Given the description of an element on the screen output the (x, y) to click on. 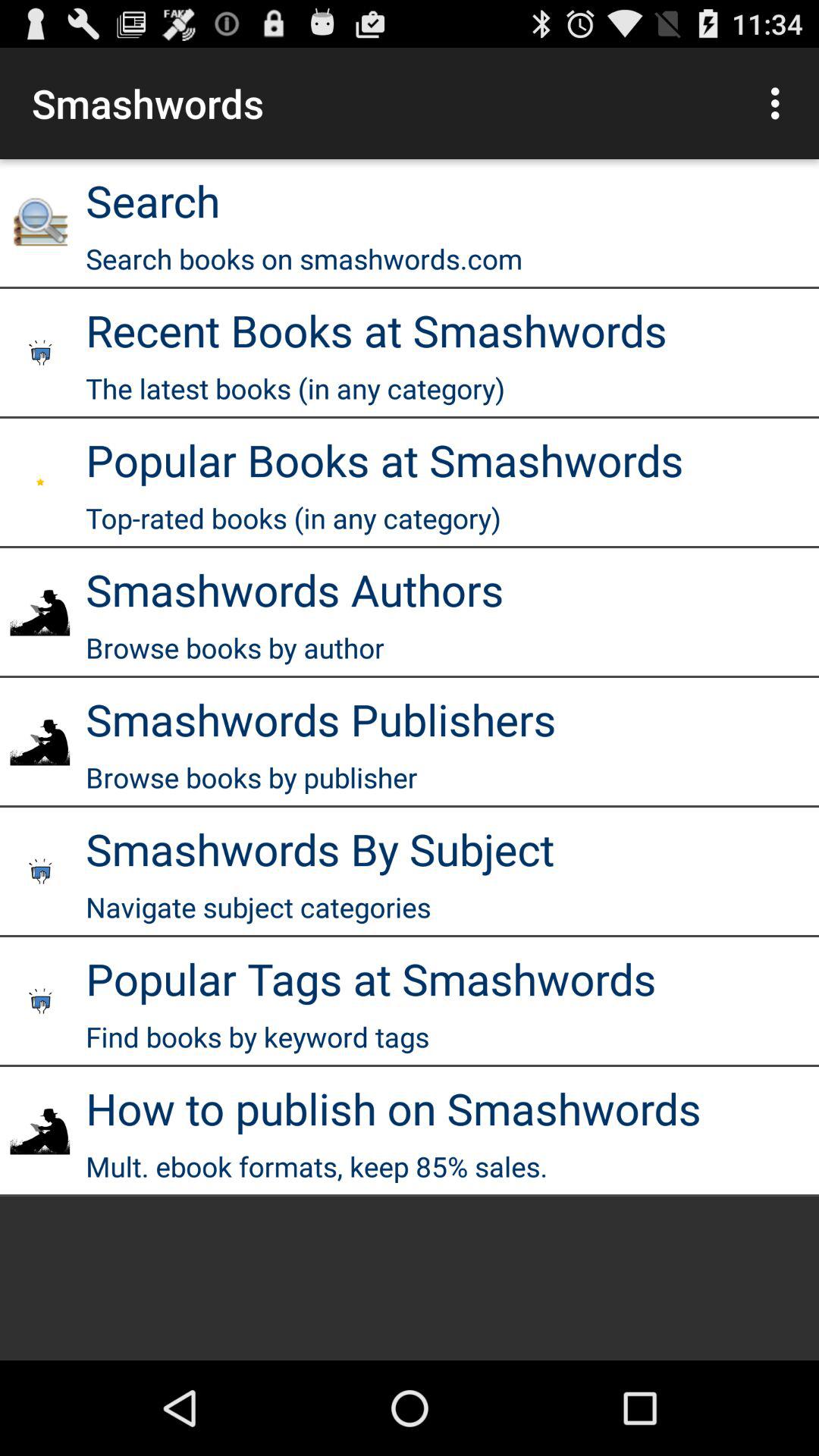
press the top rated books (293, 517)
